Given the description of an element on the screen output the (x, y) to click on. 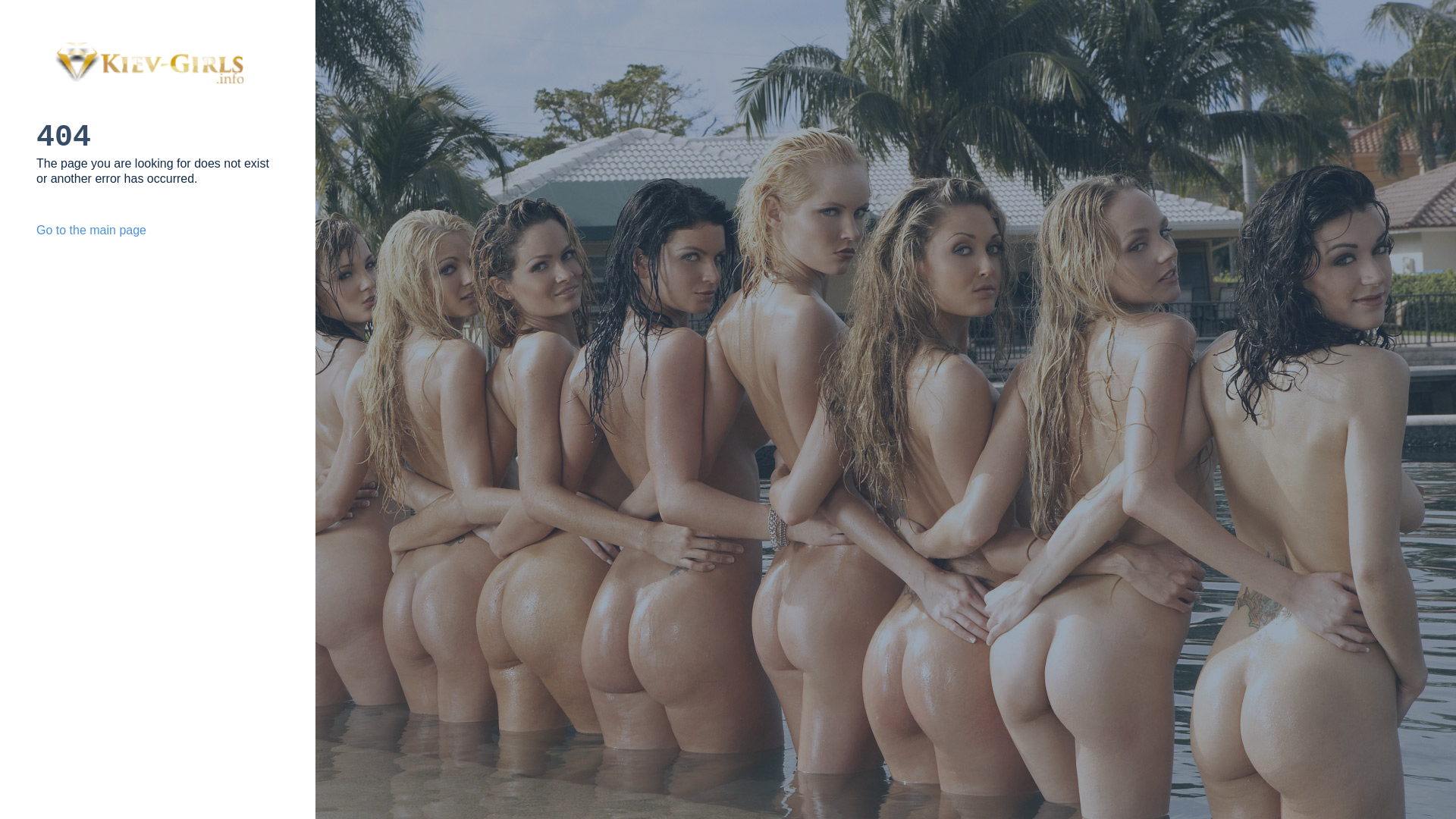
Go to the main page (91, 229)
